Given the description of an element on the screen output the (x, y) to click on. 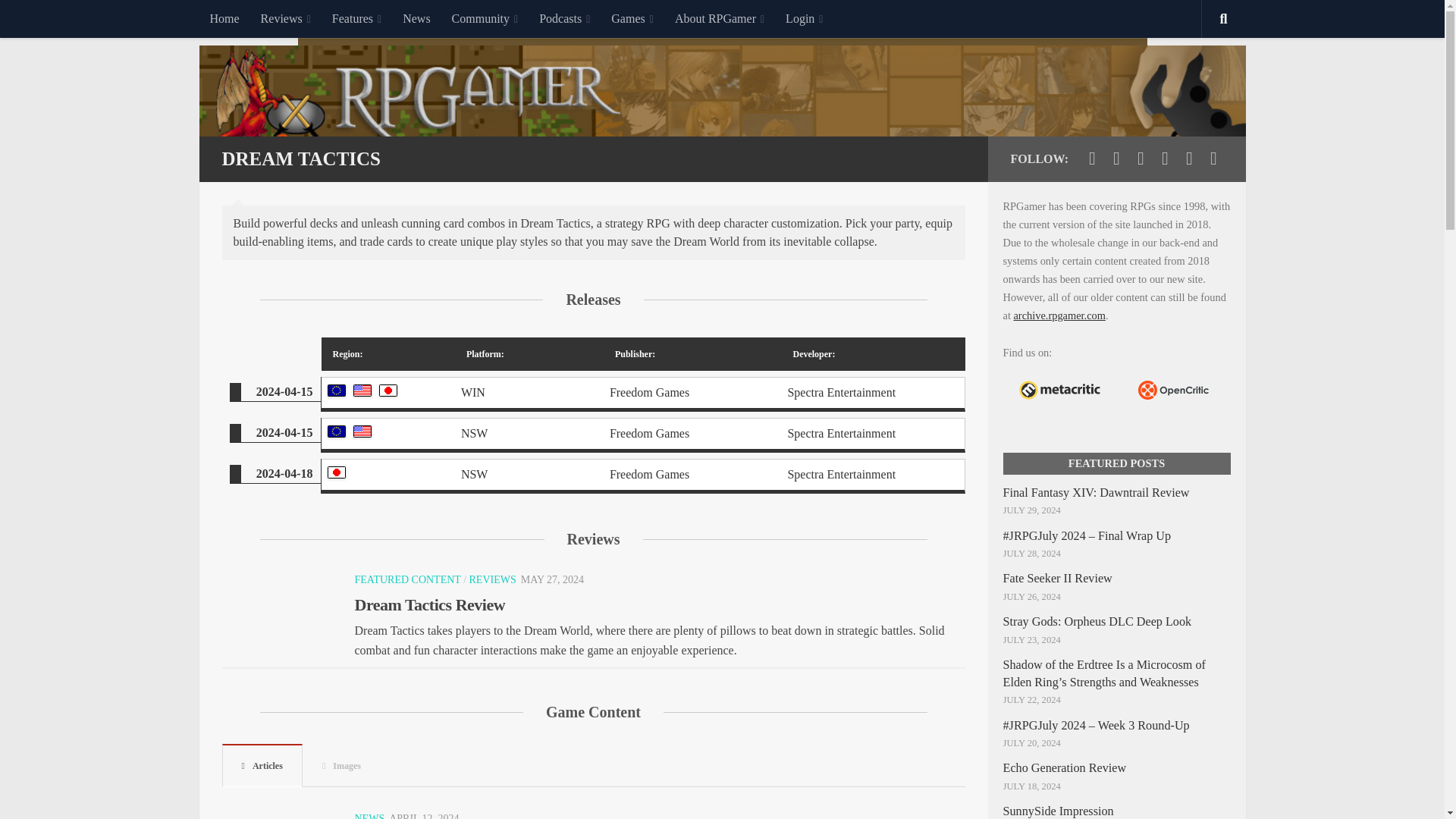
Follow us on Rss (1213, 158)
Follow us on Twitch (1164, 158)
Follow us on Twitter (1091, 158)
Skip to content (59, 20)
Follow us on Facebook (1115, 158)
Follow us on Discord (1188, 158)
Follow us on Youtube (1140, 158)
